Given the description of an element on the screen output the (x, y) to click on. 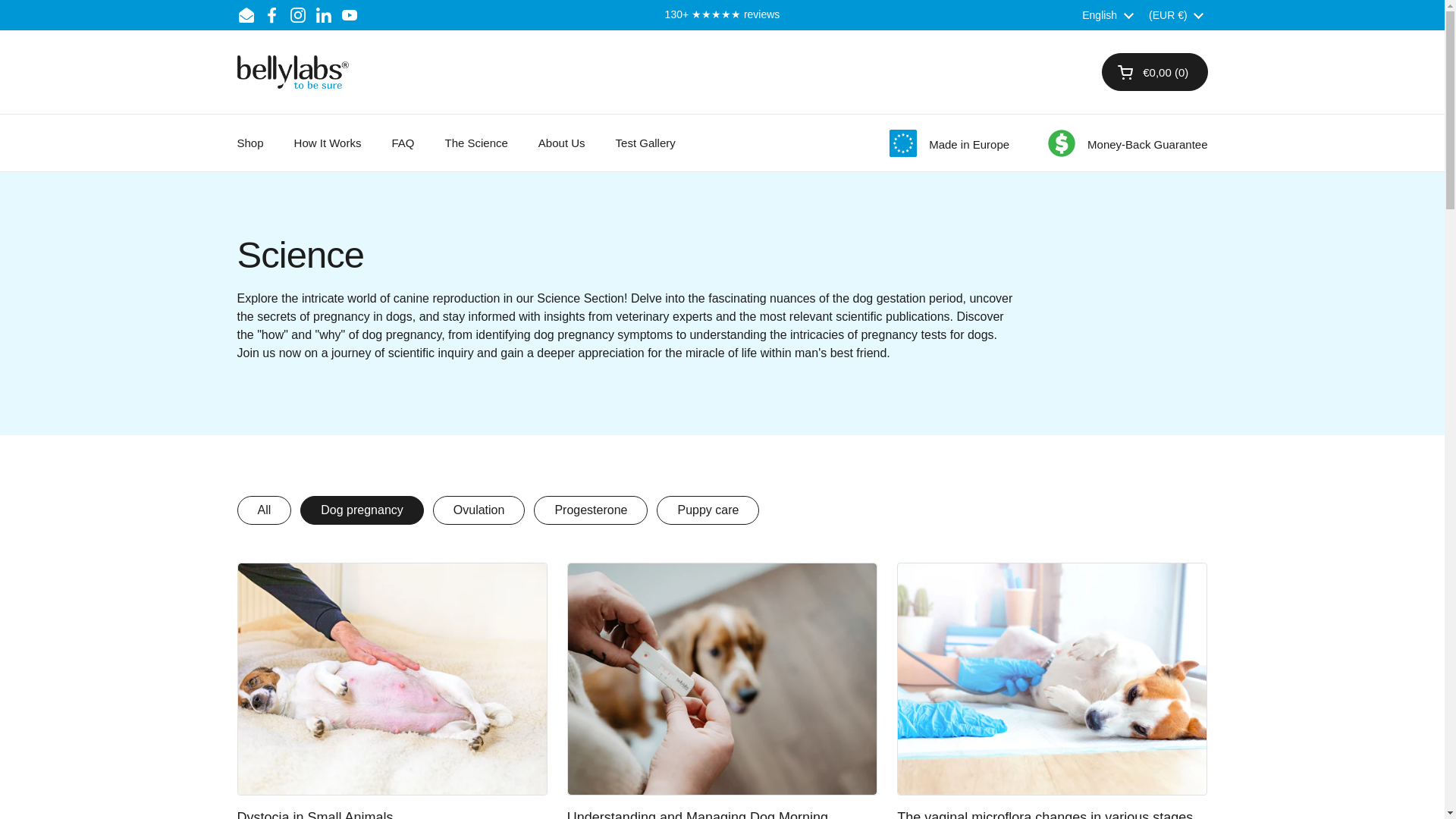
YouTube (348, 14)
Dystocia in Small Animals (314, 815)
LinkedIn (322, 14)
The Science (475, 142)
English (1107, 15)
Email (244, 14)
Bellylabs (291, 71)
Dystocia in Small Animals (391, 678)
